Given the description of an element on the screen output the (x, y) to click on. 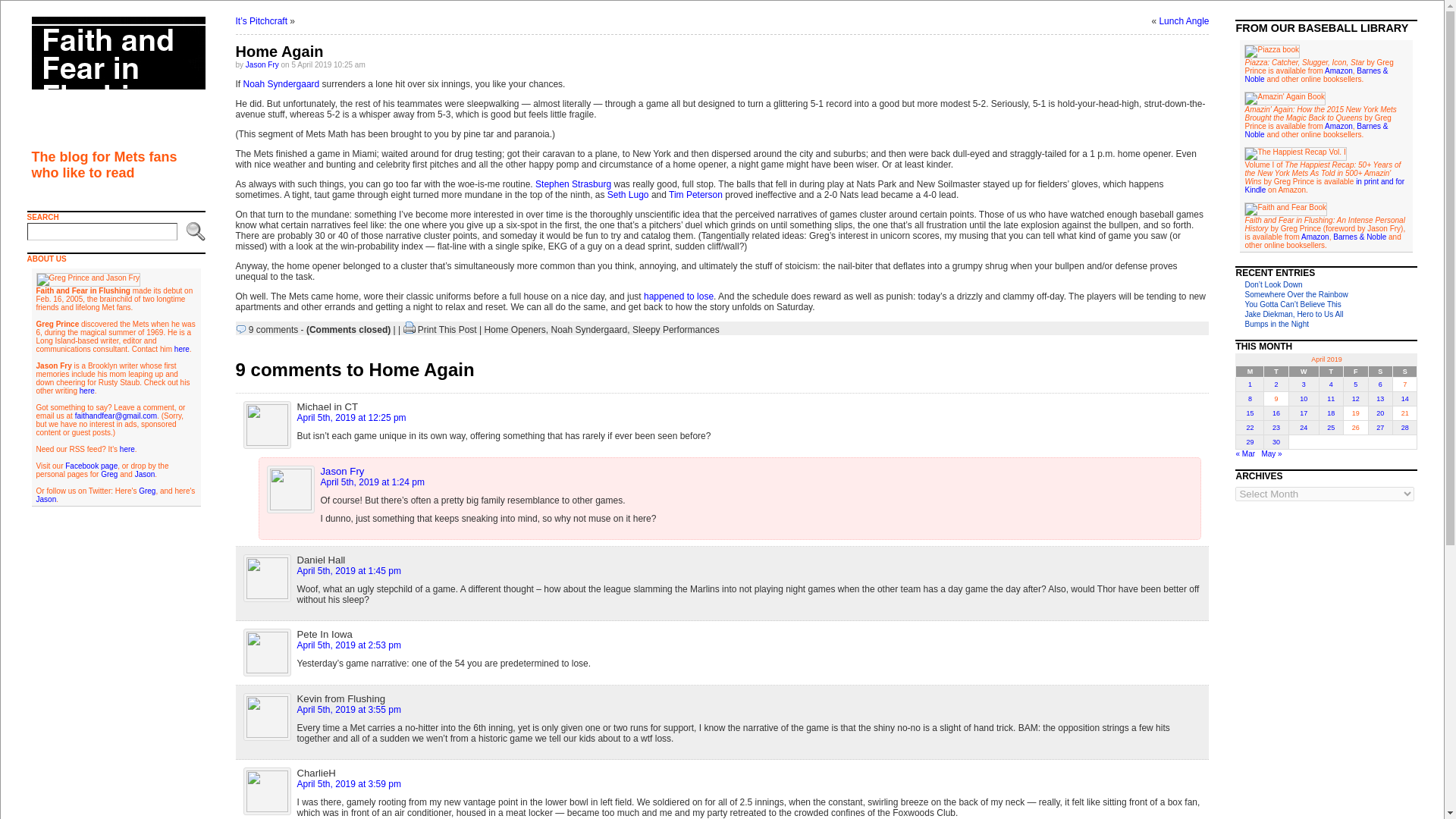
April 5th, 2019 at 2:53 pm (349, 644)
Jason (46, 499)
Lunch Angle (1183, 20)
9 comments (273, 329)
Sleepy Performances (675, 329)
April 5th, 2019 at 1:45 pm (349, 570)
Jason Fry (262, 64)
here (127, 449)
Wednesday (1303, 370)
happened to lose (678, 296)
Posts by Jason Fry (262, 64)
here (181, 348)
Search (194, 230)
Greg (146, 490)
Home Openers (513, 329)
